Given the description of an element on the screen output the (x, y) to click on. 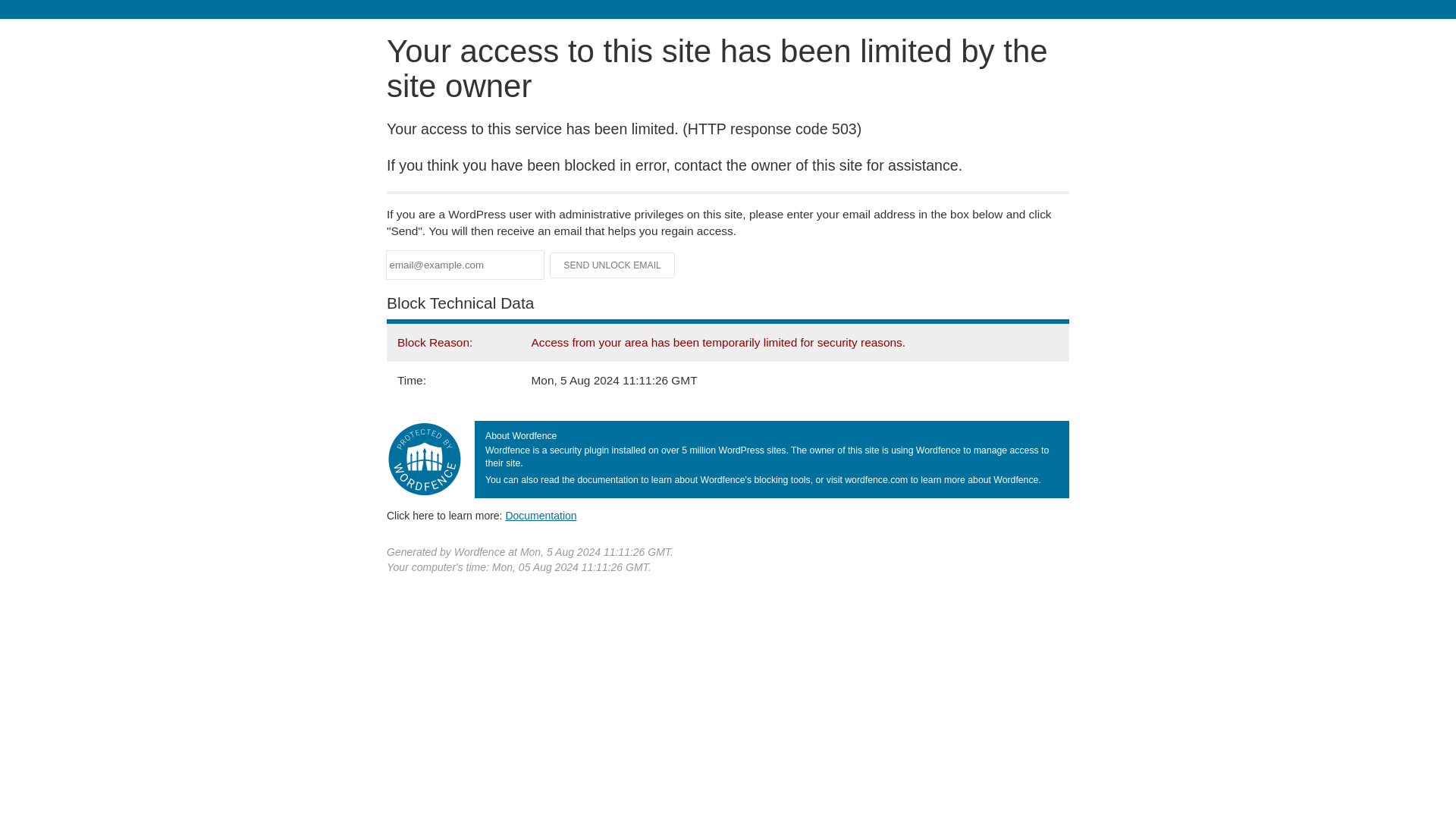
Send Unlock Email (612, 265)
Documentation (540, 515)
Send Unlock Email (612, 265)
